Given the description of an element on the screen output the (x, y) to click on. 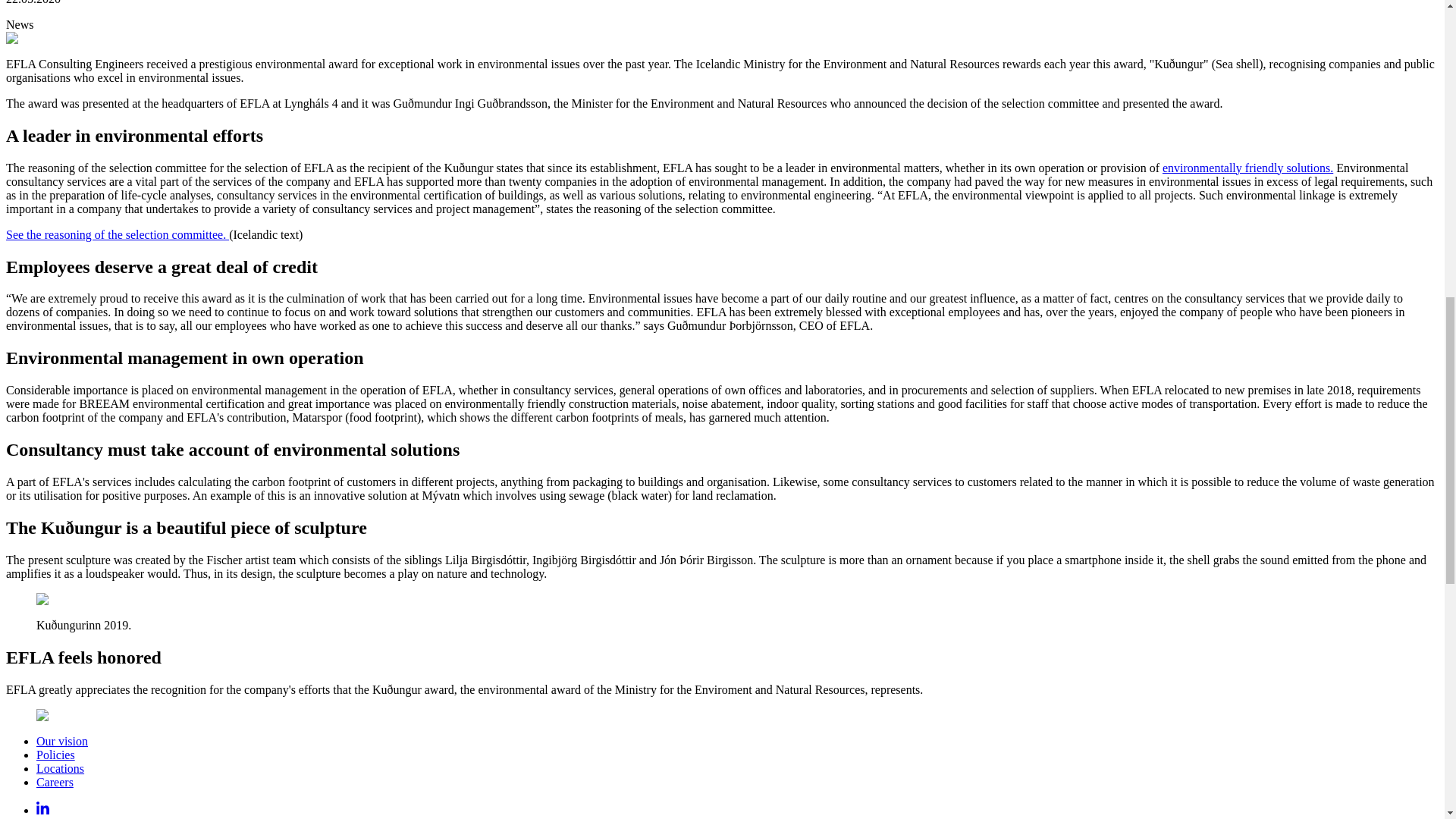
linkedin (42, 809)
Locations (60, 768)
environmentally friendly solutions. (1247, 167)
Careers (55, 781)
Policies (55, 754)
See the reasoning of the selection committee. (116, 234)
Our vision (61, 740)
